Given the description of an element on the screen output the (x, y) to click on. 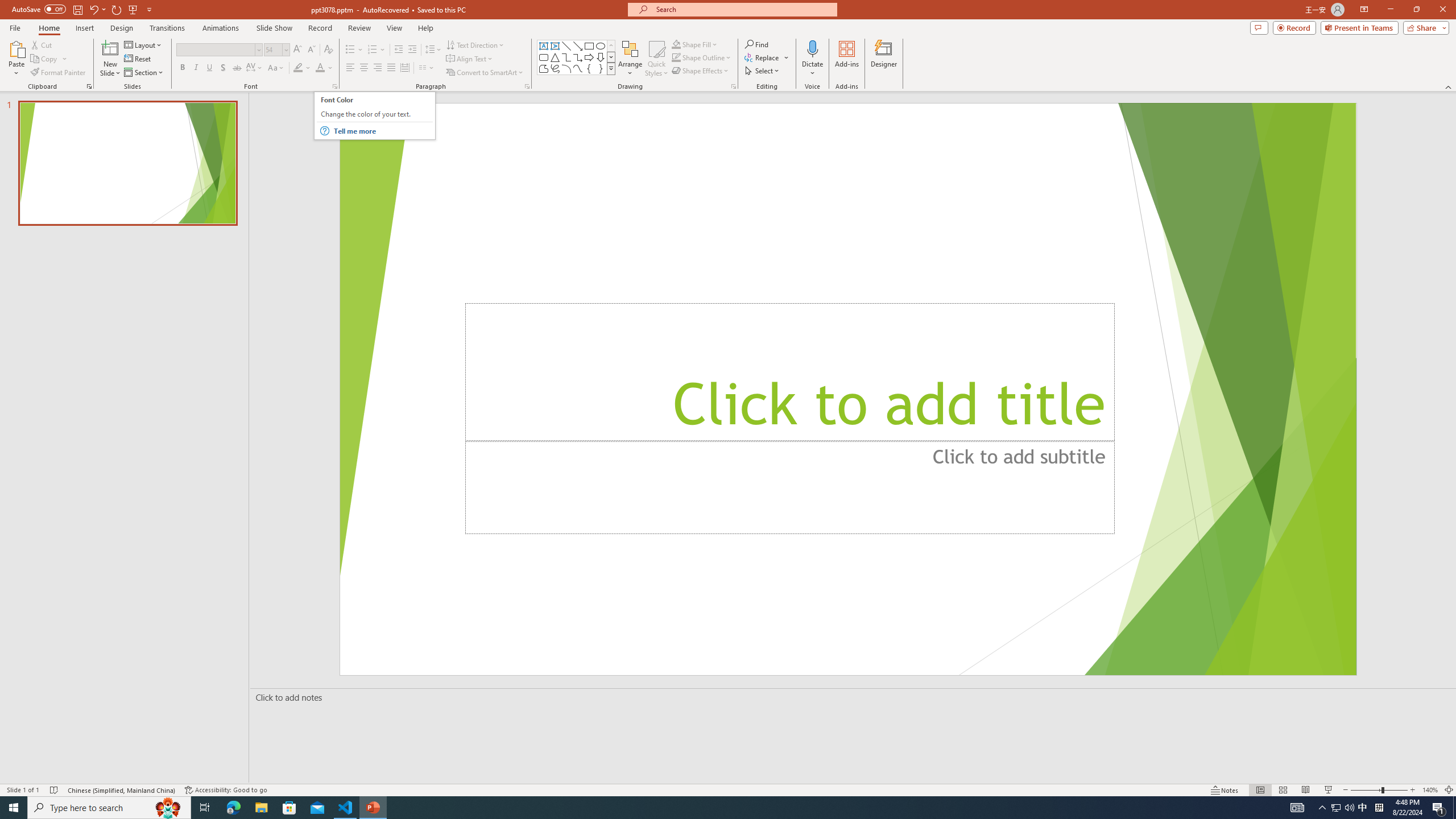
Cut (42, 44)
Convert to SmartArt (485, 72)
Oval (600, 45)
Shape Effects (700, 69)
Copy (45, 58)
Arc (566, 68)
Tell me more (382, 130)
Shadow (223, 67)
Select (762, 69)
Bullets (349, 49)
Freeform: Scribble (554, 68)
Record (1294, 27)
Text Highlight Color Yellow (297, 67)
Dictate (812, 58)
